Given the description of an element on the screen output the (x, y) to click on. 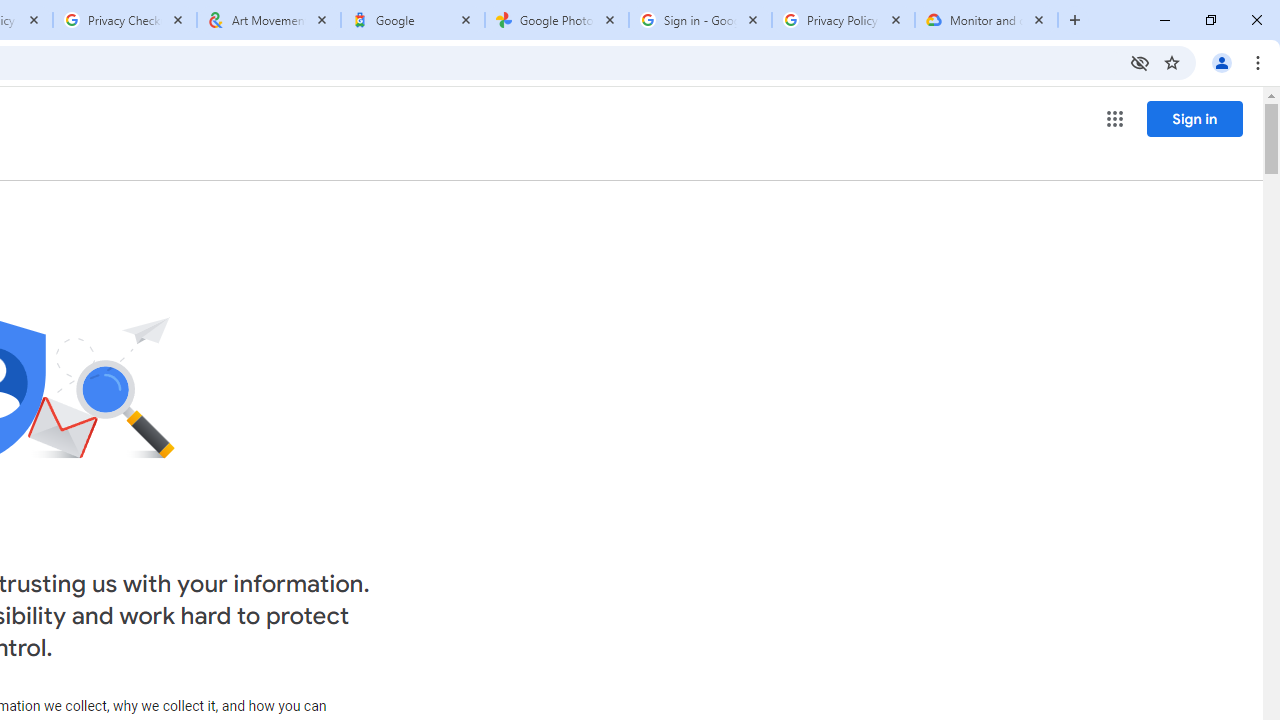
Google (412, 20)
